Given the description of an element on the screen output the (x, y) to click on. 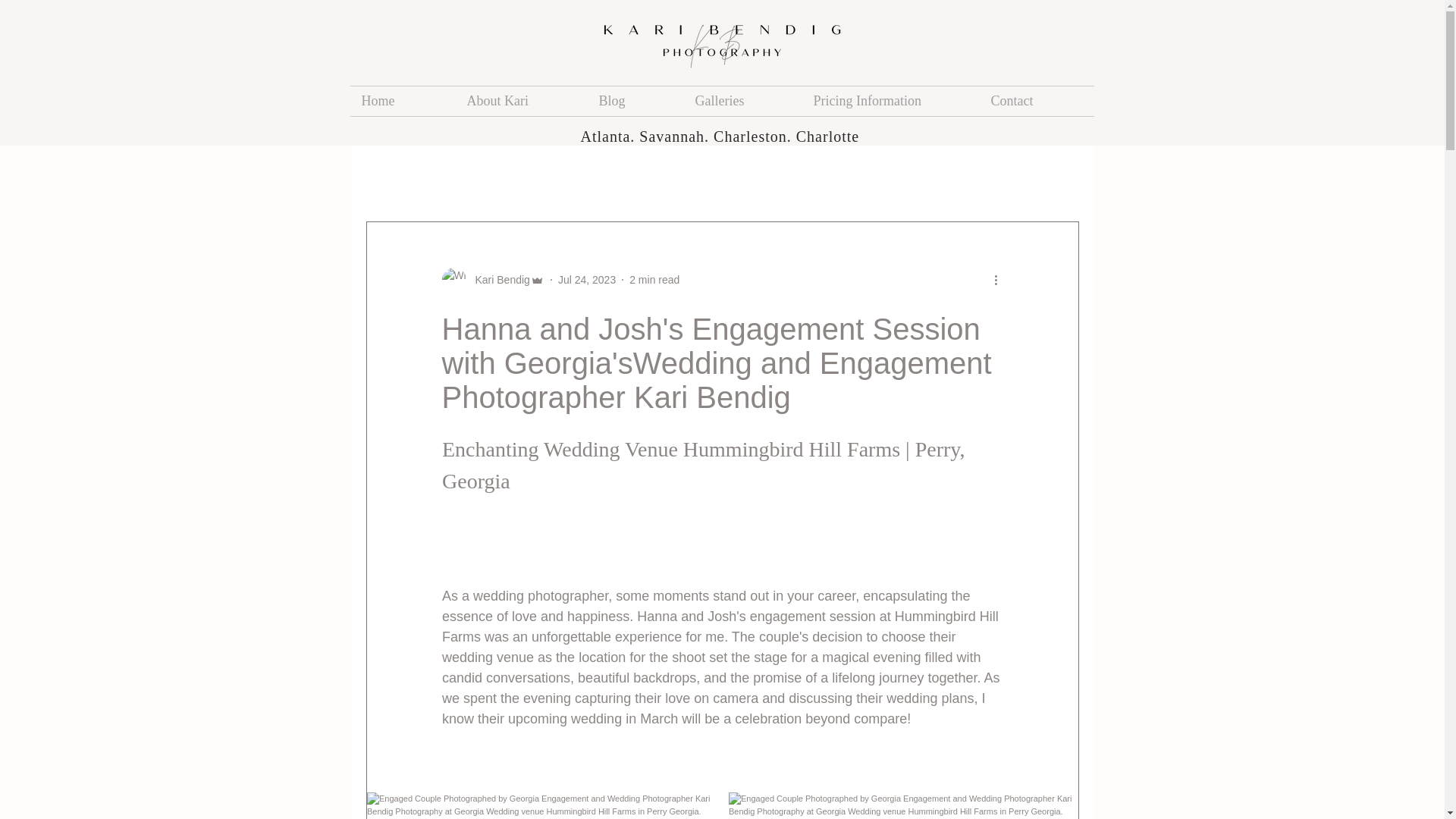
Home (402, 101)
Wedding Photography (627, 175)
Kari Bendig (497, 279)
2 min read (653, 278)
Jul 24, 2023 (586, 278)
Blog (634, 101)
Galleries (743, 101)
Your Community (491, 175)
Contact (1036, 101)
All Posts (389, 175)
Kari Bendig (492, 279)
Pin to Pinterest (465, 804)
Middle Georgia Wedding (785, 175)
About Kari (520, 101)
